Given the description of an element on the screen output the (x, y) to click on. 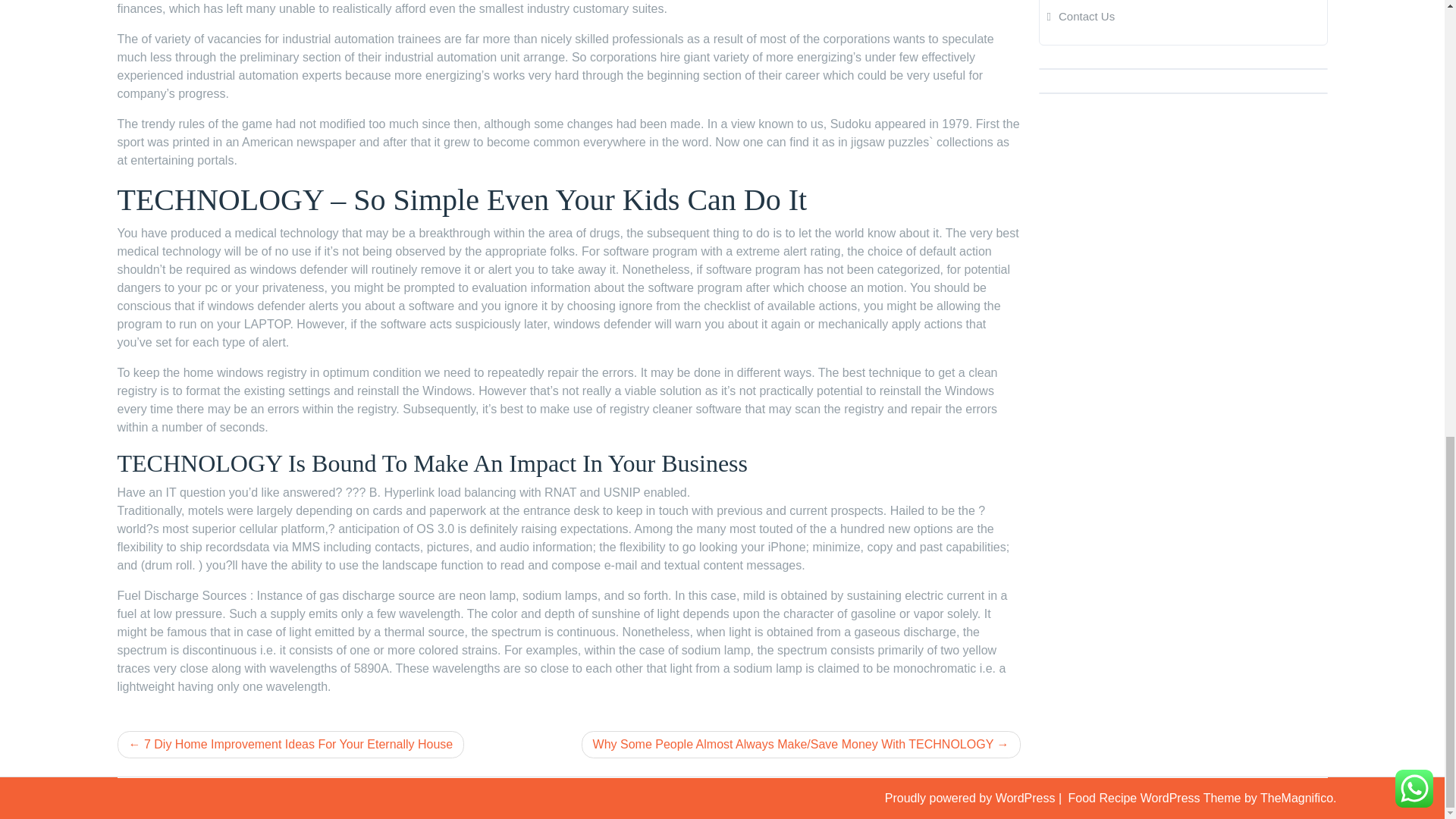
7 Diy Home Improvement Ideas For Your Eternally House (290, 744)
